Given the description of an element on the screen output the (x, y) to click on. 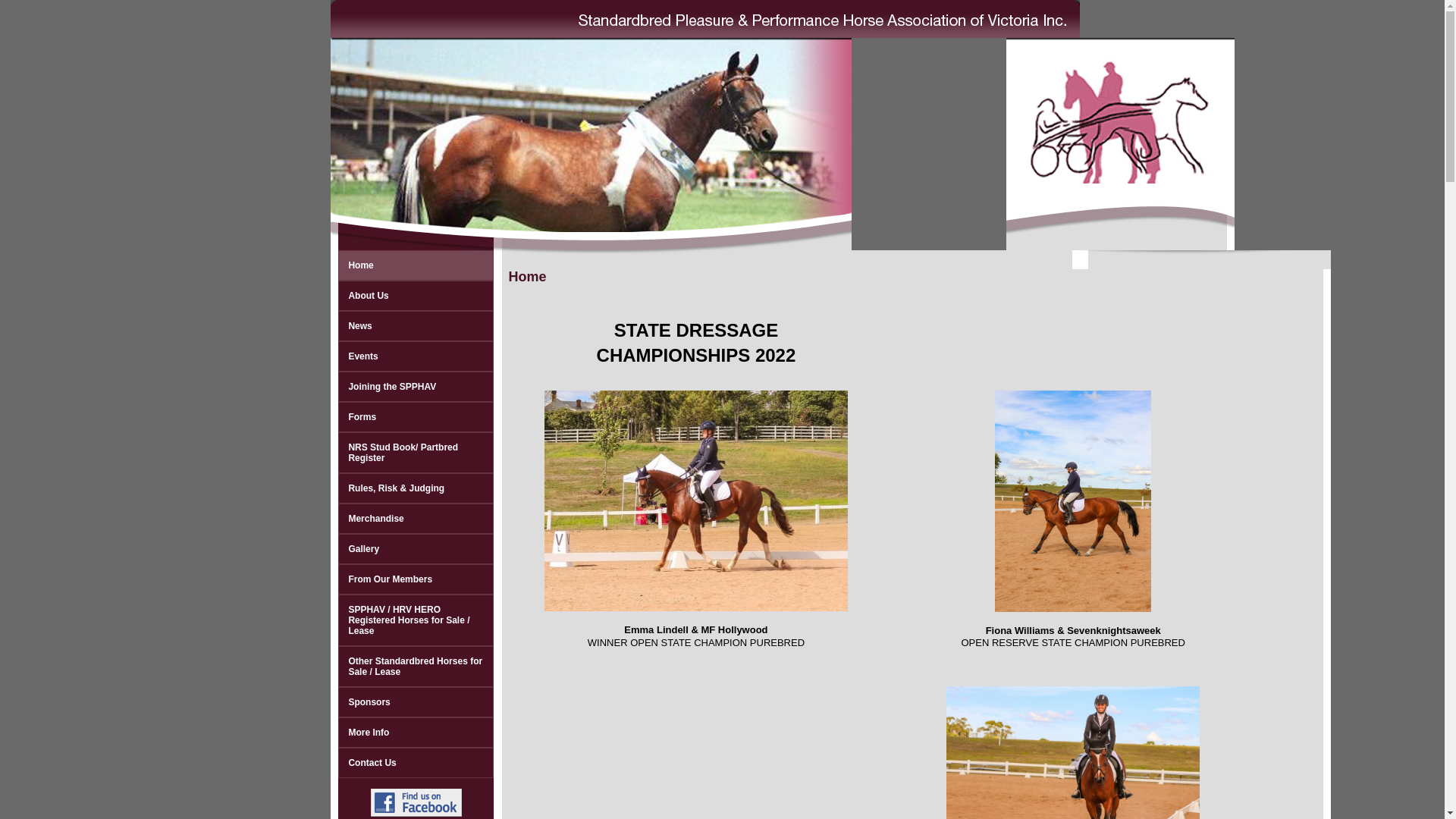
Events Element type: text (415, 356)
Sponsors Element type: text (415, 702)
Forms Element type: text (415, 416)
Rules, Risk & Judging Element type: text (415, 488)
About Us Element type: text (415, 295)
Contact Us Element type: text (415, 762)
More Info Element type: text (415, 732)
SPPHAV / HRV HERO Registered Horses for Sale / Lease Element type: text (415, 620)
Gallery Element type: text (415, 548)
News Element type: text (415, 325)
Home Element type: text (415, 265)
NRS Stud Book/ Partbred Register Element type: text (415, 452)
Joining the SPPHAV Element type: text (415, 386)
Other Standardbred Horses for Sale / Lease Element type: text (415, 666)
From Our Members Element type: text (415, 579)
Merchandise Element type: text (415, 518)
